Given the description of an element on the screen output the (x, y) to click on. 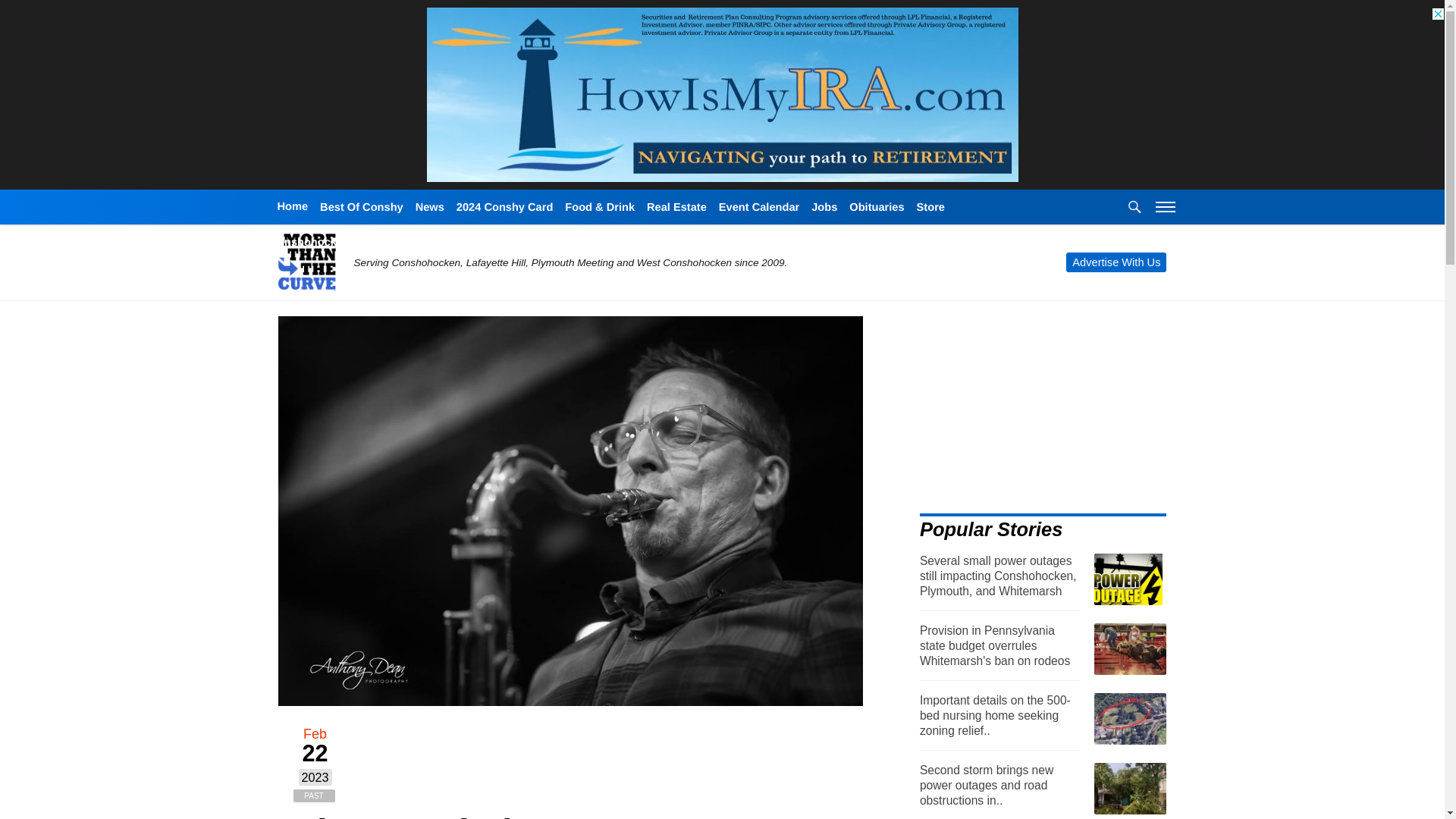
Best Of Conshy (361, 207)
Advertisement (1046, 411)
News (429, 207)
